Given the description of an element on the screen output the (x, y) to click on. 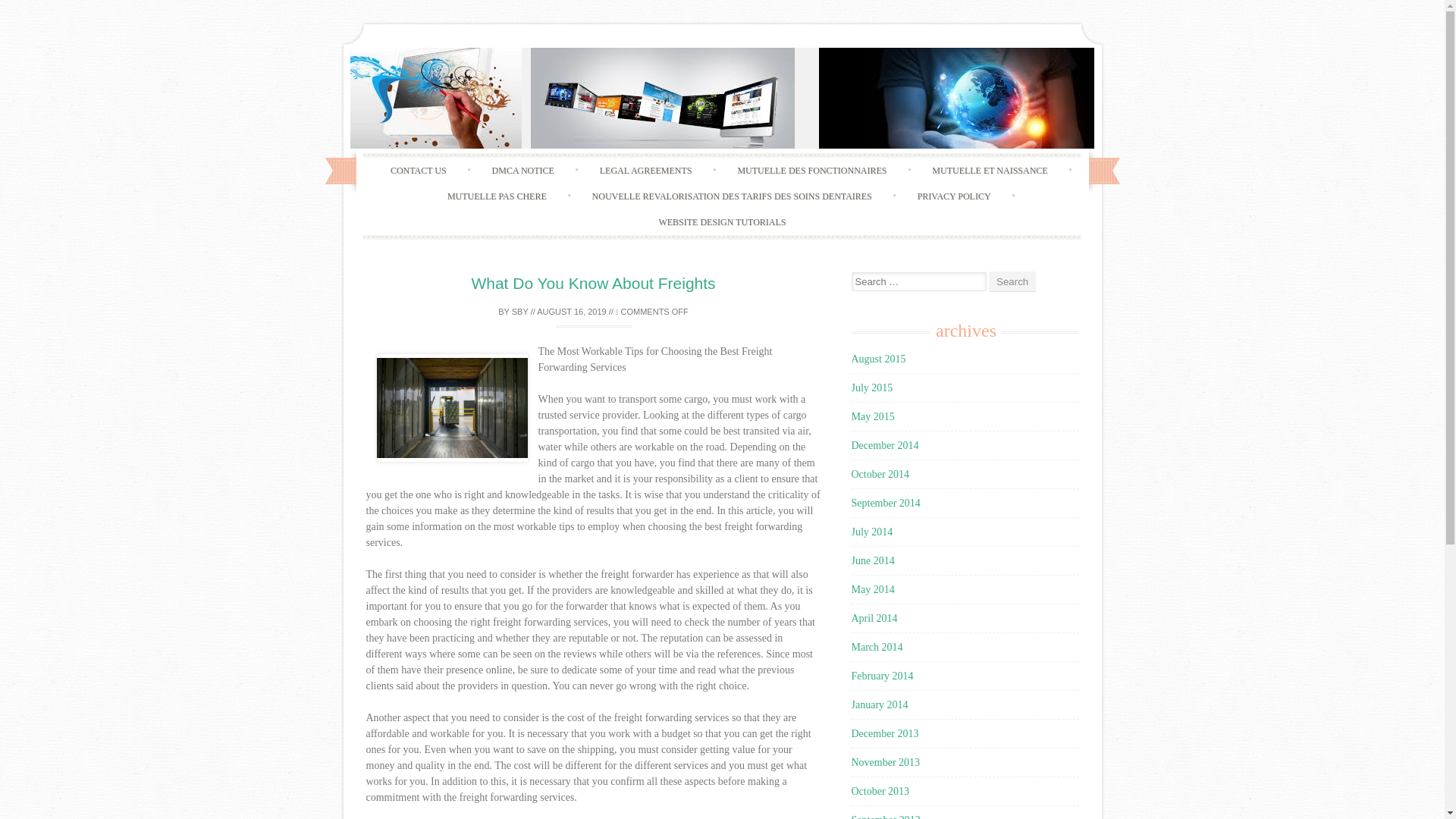
CONTACT US (418, 170)
COMMENTS OFF (651, 310)
September 2013 (885, 816)
September 2014 (885, 502)
AUGUST 16, 2019 (572, 310)
May 2014 (871, 589)
May 2015 (871, 416)
LEGAL AGREEMENTS (645, 170)
DMCA NOTICE (523, 170)
October 2013 (879, 790)
NOUVELLE REVALORISATION DES TARIFS DES SOINS DENTAIRES (731, 196)
October 2014 (879, 473)
WEBSITE DESIGN TUTORIALS (721, 222)
SBY (520, 310)
November 2013 (885, 762)
